Given the description of an element on the screen output the (x, y) to click on. 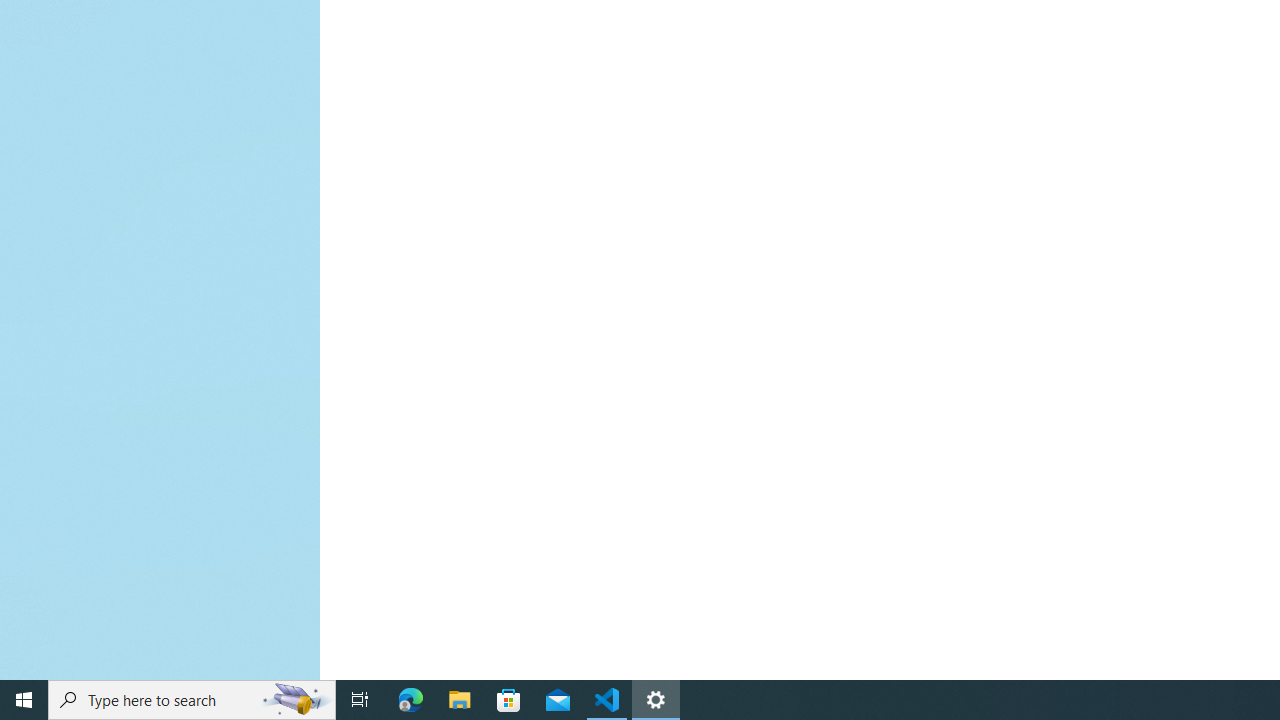
Task View (359, 699)
Start (24, 699)
Microsoft Store (509, 699)
Search highlights icon opens search home window (295, 699)
File Explorer (460, 699)
Visual Studio Code - 1 running window (607, 699)
Microsoft Edge (411, 699)
Type here to search (191, 699)
Settings - 1 running window (656, 699)
